Given the description of an element on the screen output the (x, y) to click on. 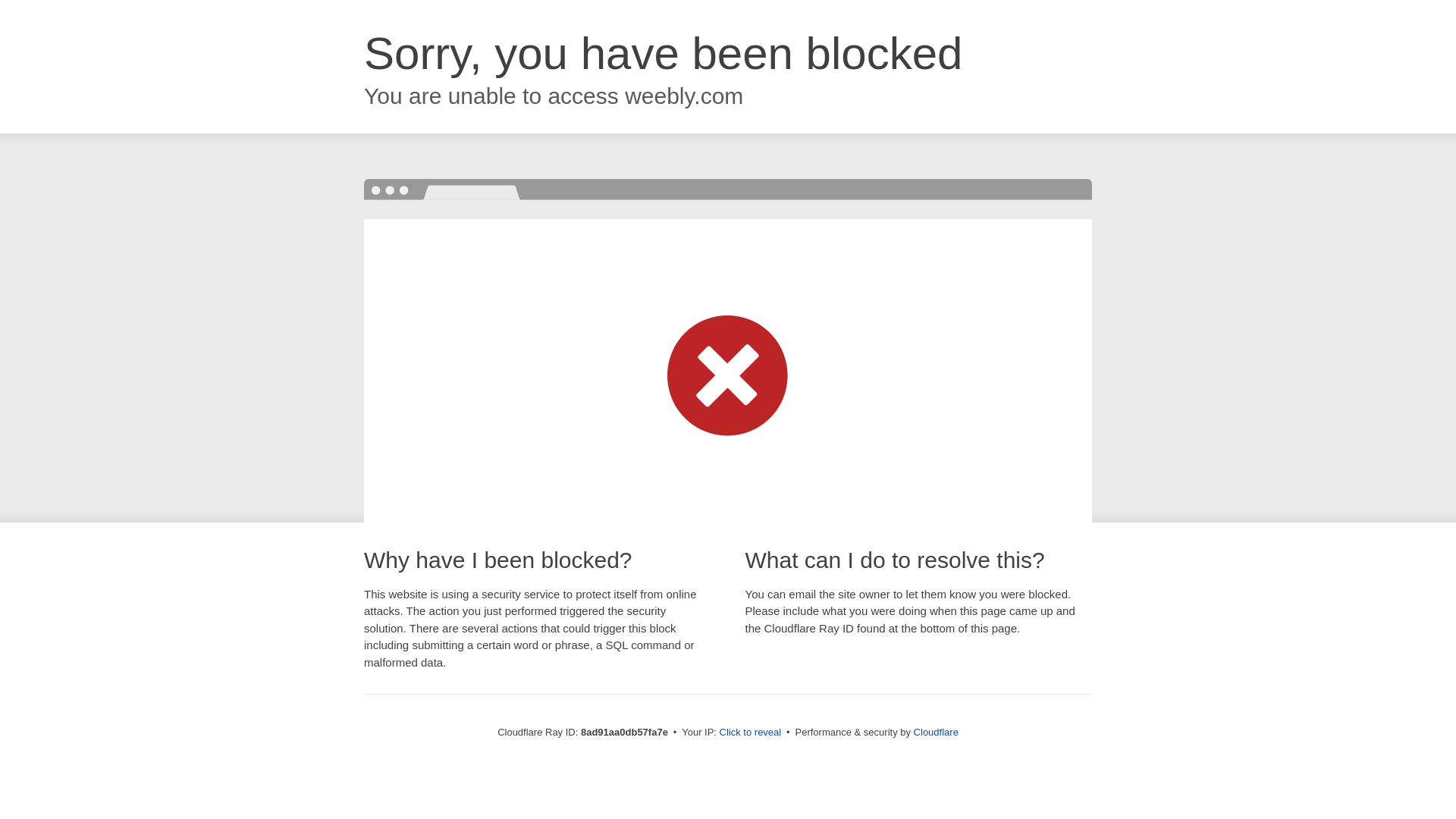
Cloudflare (936, 731)
Click to reveal (750, 732)
